Given the description of an element on the screen output the (x, y) to click on. 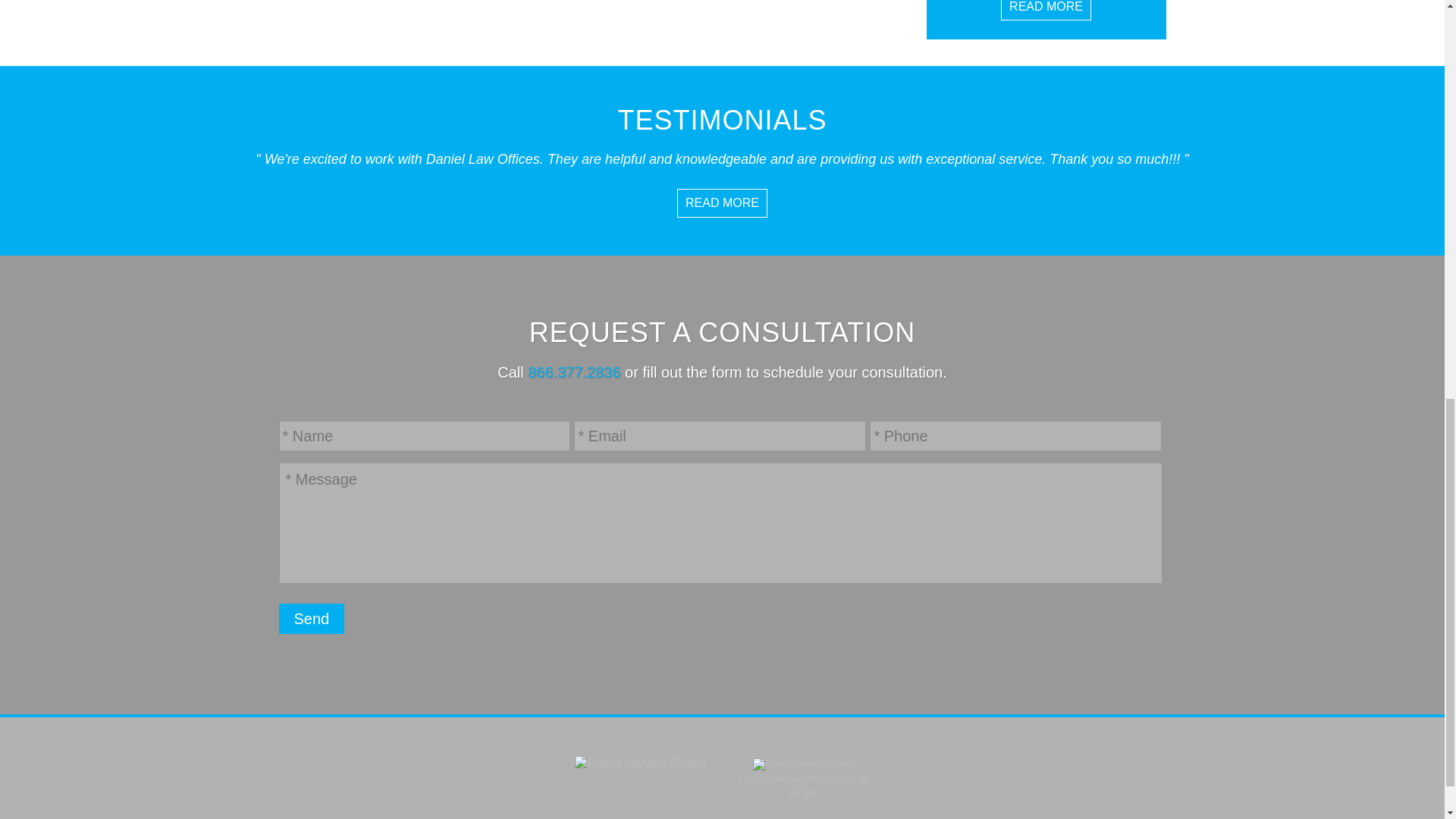
READ MORE (1045, 10)
866.377.2836 (573, 371)
Send (312, 618)
READ MORE (722, 203)
